Given the description of an element on the screen output the (x, y) to click on. 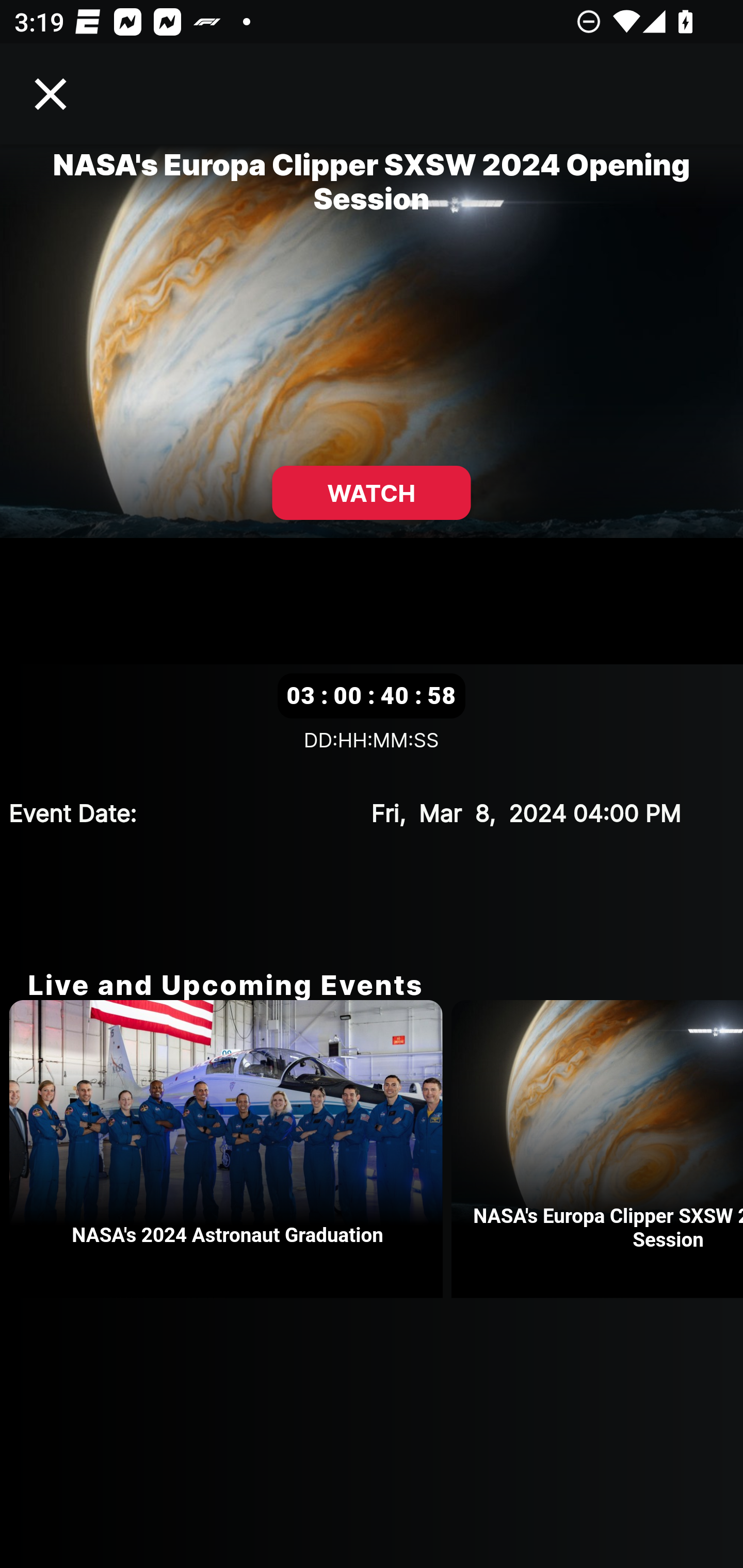
WATCH (371, 492)
NASA's 2024 Astronaut Graduation (229, 1149)
NASA's Europa Clipper SXSW 2024 Opening Session (597, 1149)
